Given the description of an element on the screen output the (x, y) to click on. 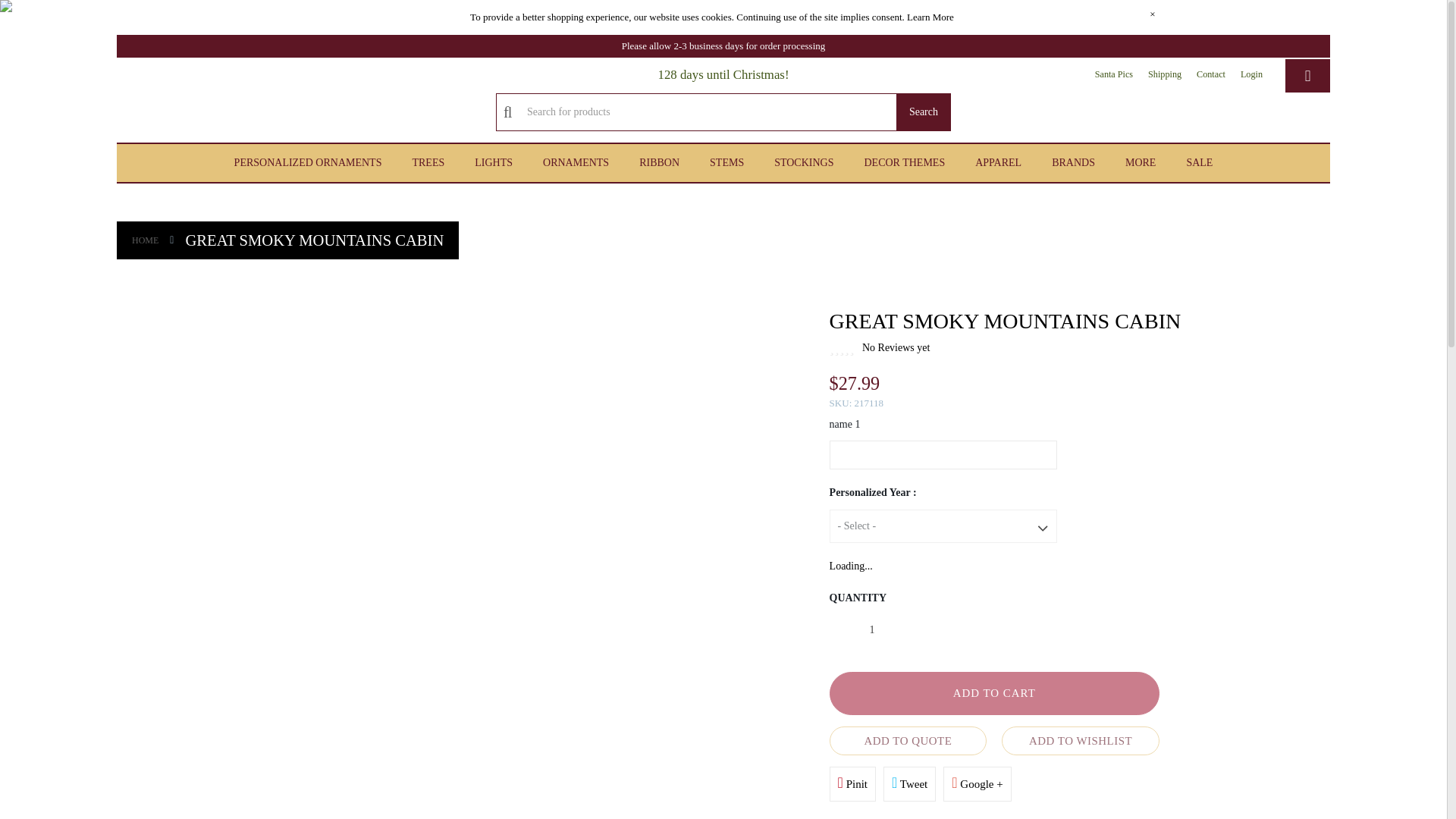
ADD TO CART (993, 692)
PERSONALIZED ORNAMENTS (307, 162)
ADD TO QUOTE (908, 740)
HOME (145, 240)
DECOR THEMES (903, 162)
Pinit (852, 783)
LIGHTS (493, 162)
Santa Pics (1113, 73)
Login (1251, 73)
STOCKINGS (803, 162)
